Given the description of an element on the screen output the (x, y) to click on. 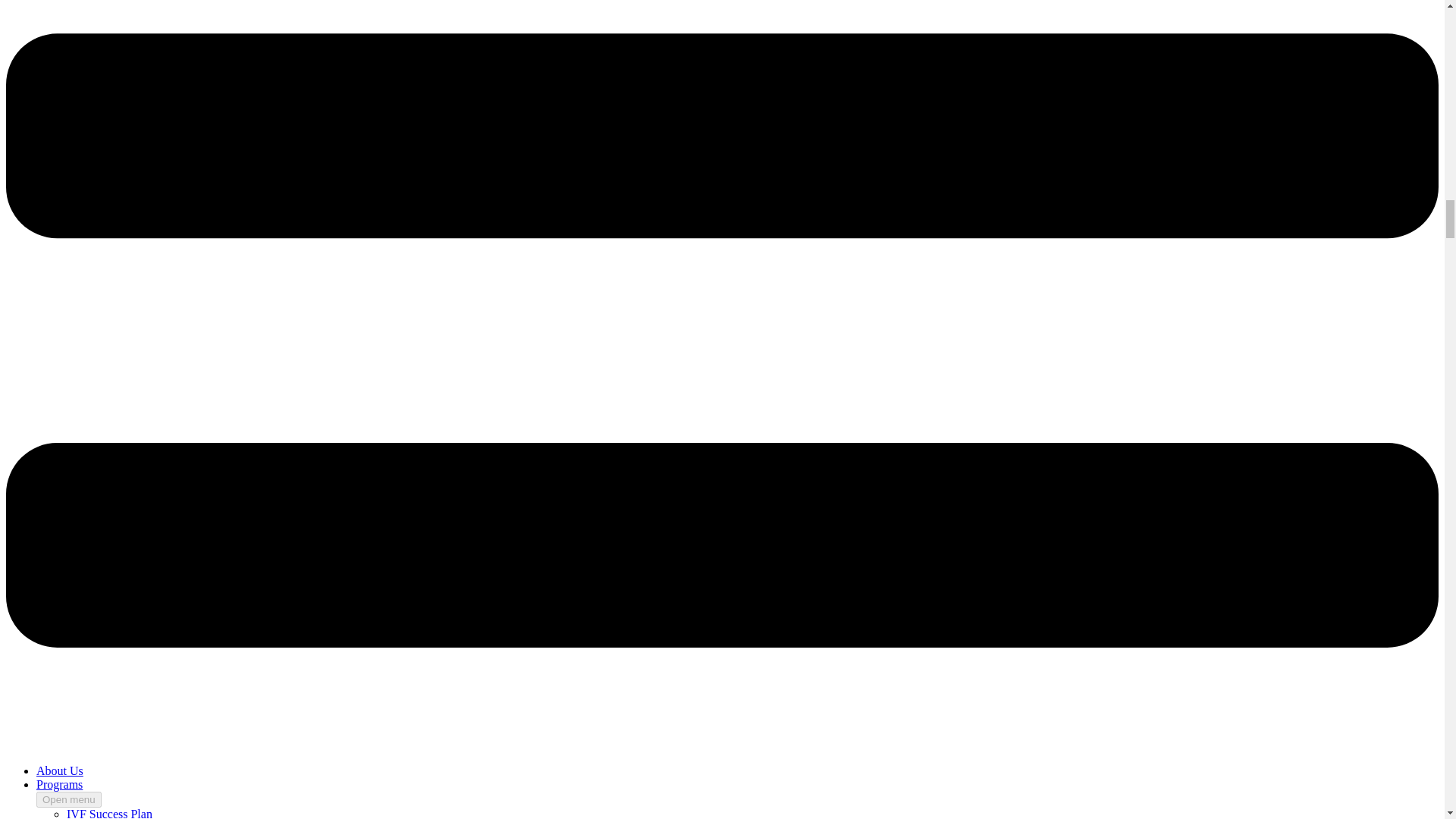
Programs (59, 784)
About Us (59, 770)
IVF Success Plan (109, 813)
Open menu (68, 799)
